Given the description of an element on the screen output the (x, y) to click on. 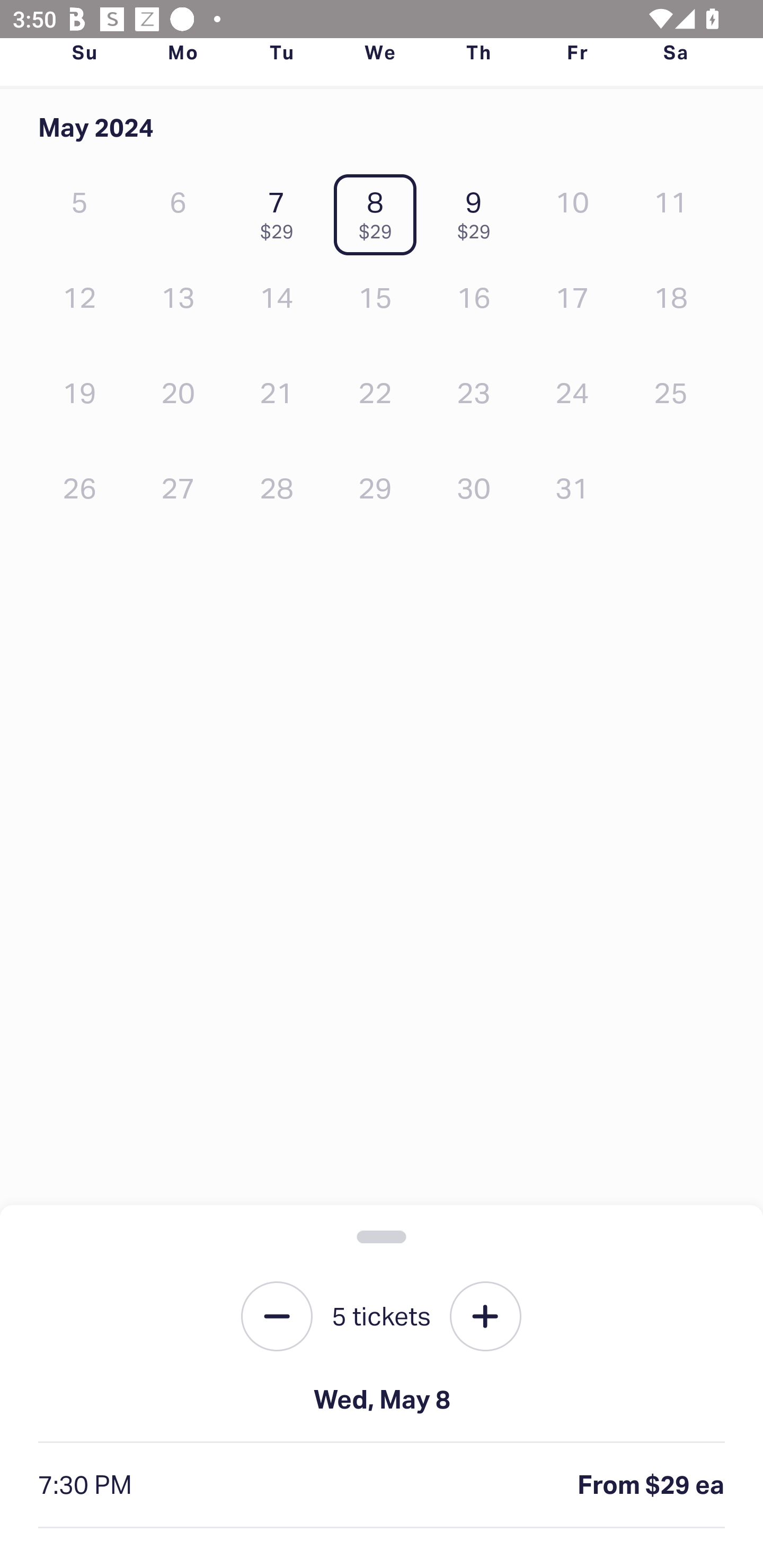
7 $29 (281, 210)
8 $29 (379, 210)
9 $29 (478, 210)
7:30 PM From $29 ea (381, 1485)
